Given the description of an element on the screen output the (x, y) to click on. 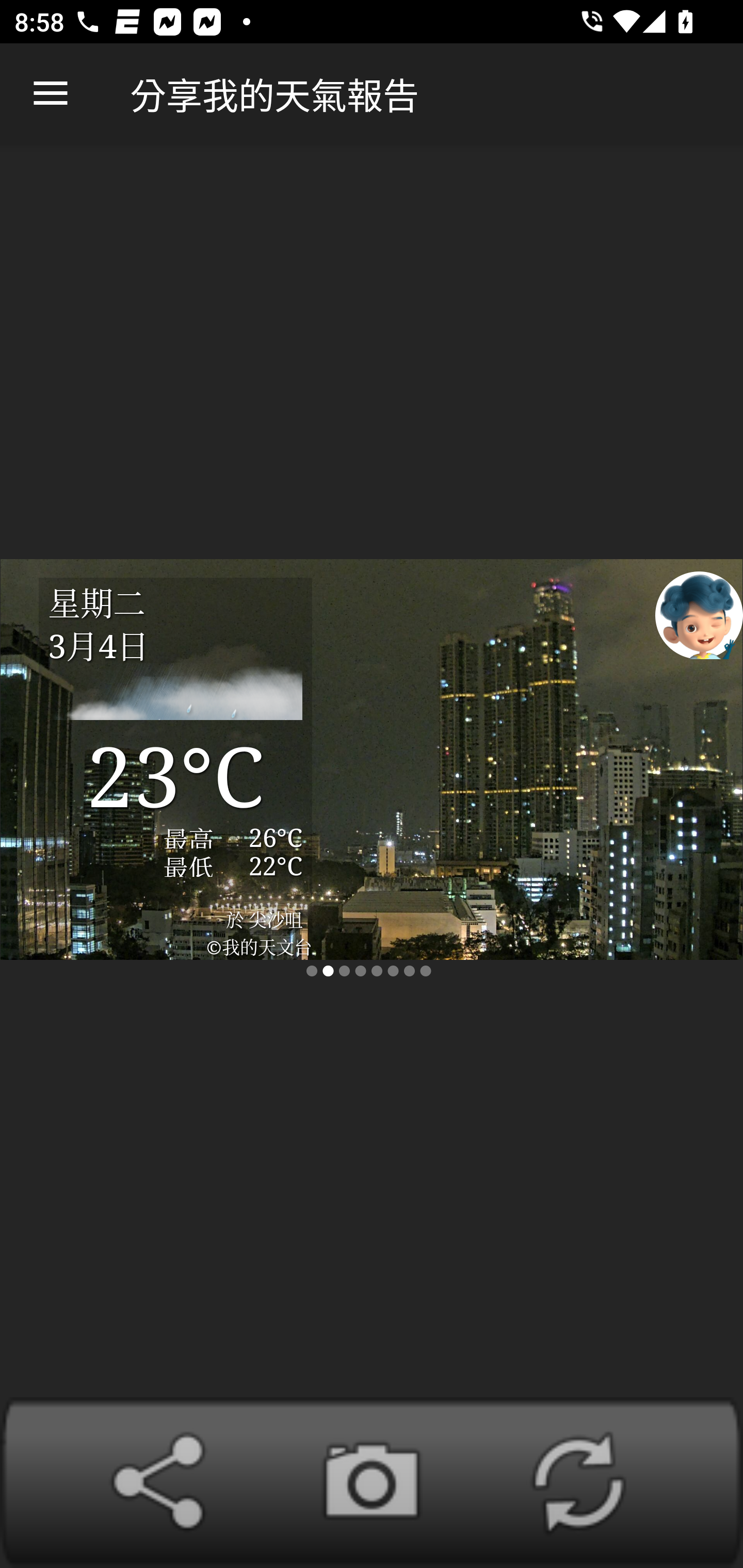
向上瀏覽 (50, 93)
聊天機械人 (699, 614)
分享 (164, 1482)
拍攝 (371, 1482)
重新整理 (577, 1482)
